Given the description of an element on the screen output the (x, y) to click on. 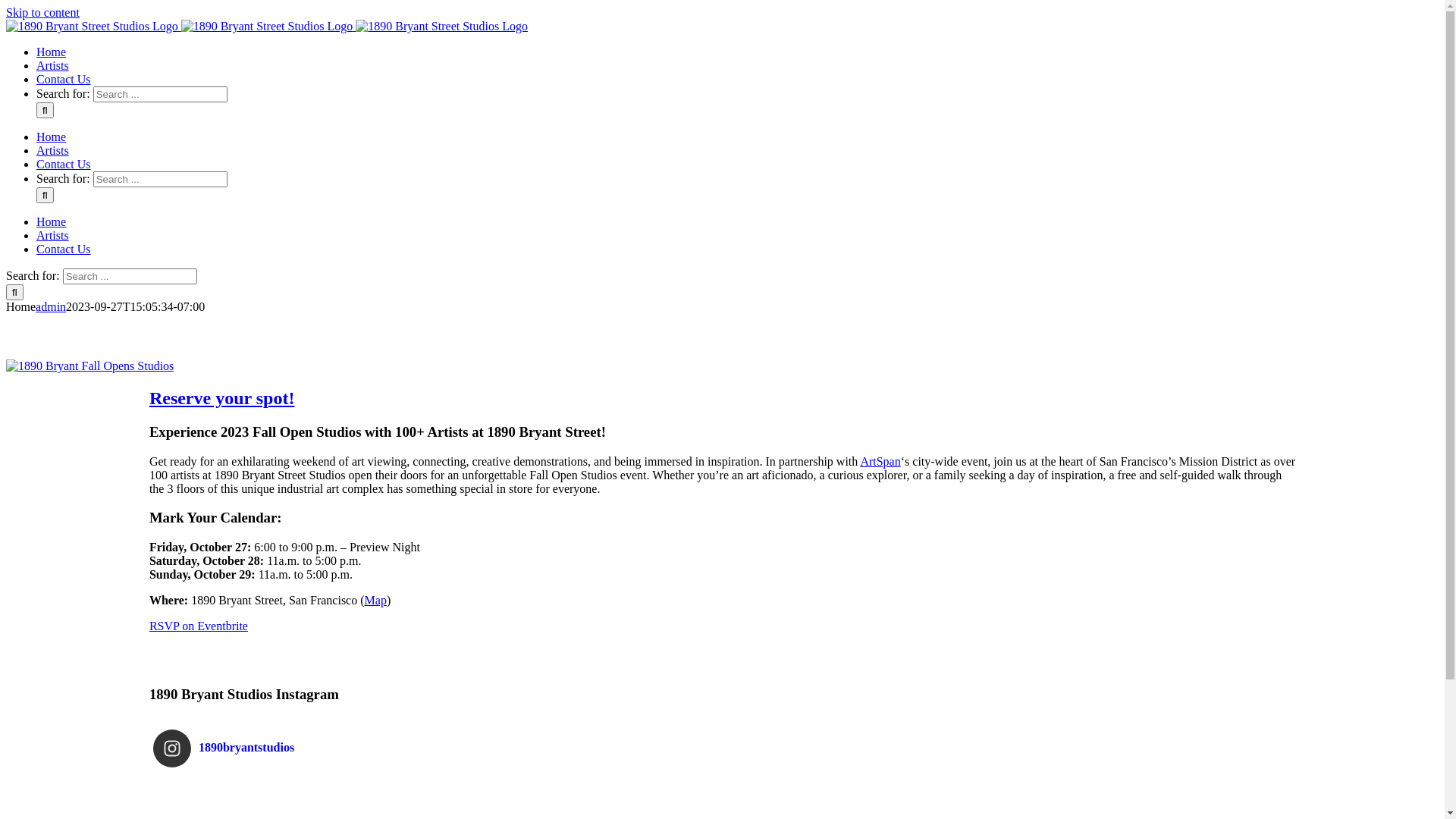
Artists Element type: text (52, 235)
Reserve your spot! Element type: text (221, 397)
Home Element type: text (50, 136)
1890bryantstudios Element type: text (726, 748)
Contact Us Element type: text (63, 163)
Artists Element type: text (52, 150)
RSVP on Eventbrite Element type: text (198, 625)
ArtSpan Element type: text (879, 461)
Home Element type: text (50, 221)
Skip to content Element type: text (42, 12)
Home Element type: text (50, 51)
Artists Element type: text (52, 65)
admin Element type: text (50, 306)
Map Element type: text (375, 599)
Contact Us Element type: text (63, 248)
Contact Us Element type: text (63, 78)
